Given the description of an element on the screen output the (x, y) to click on. 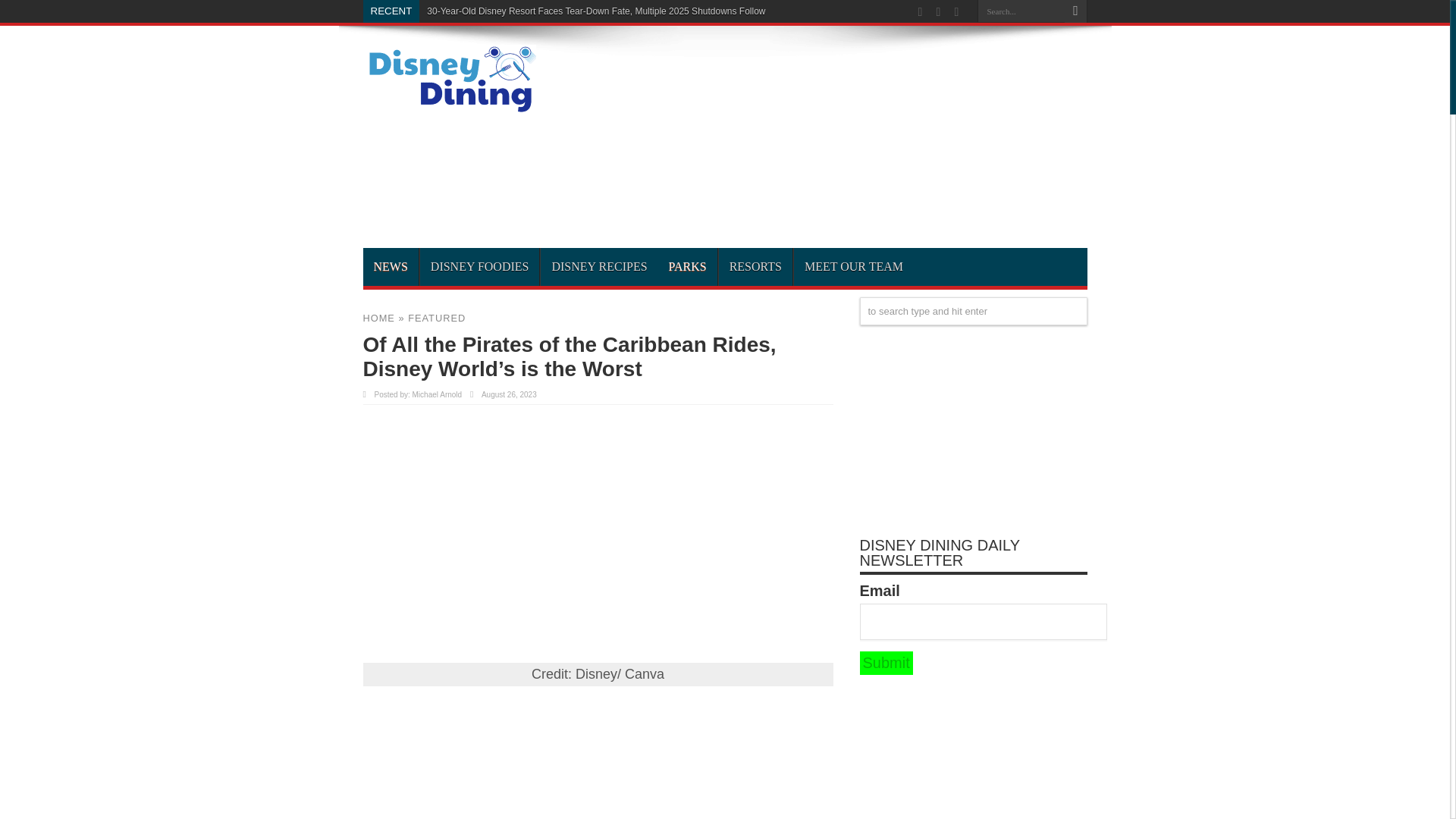
MEET OUR TEAM (853, 266)
Michael Arnold (437, 394)
Search... (1020, 11)
Disney Dining (448, 107)
DISNEY FOODIES (479, 266)
DISNEY RECIPES (599, 266)
RESORTS (754, 266)
FEATURED (436, 317)
Search (1075, 11)
PARKS (687, 266)
